Given the description of an element on the screen output the (x, y) to click on. 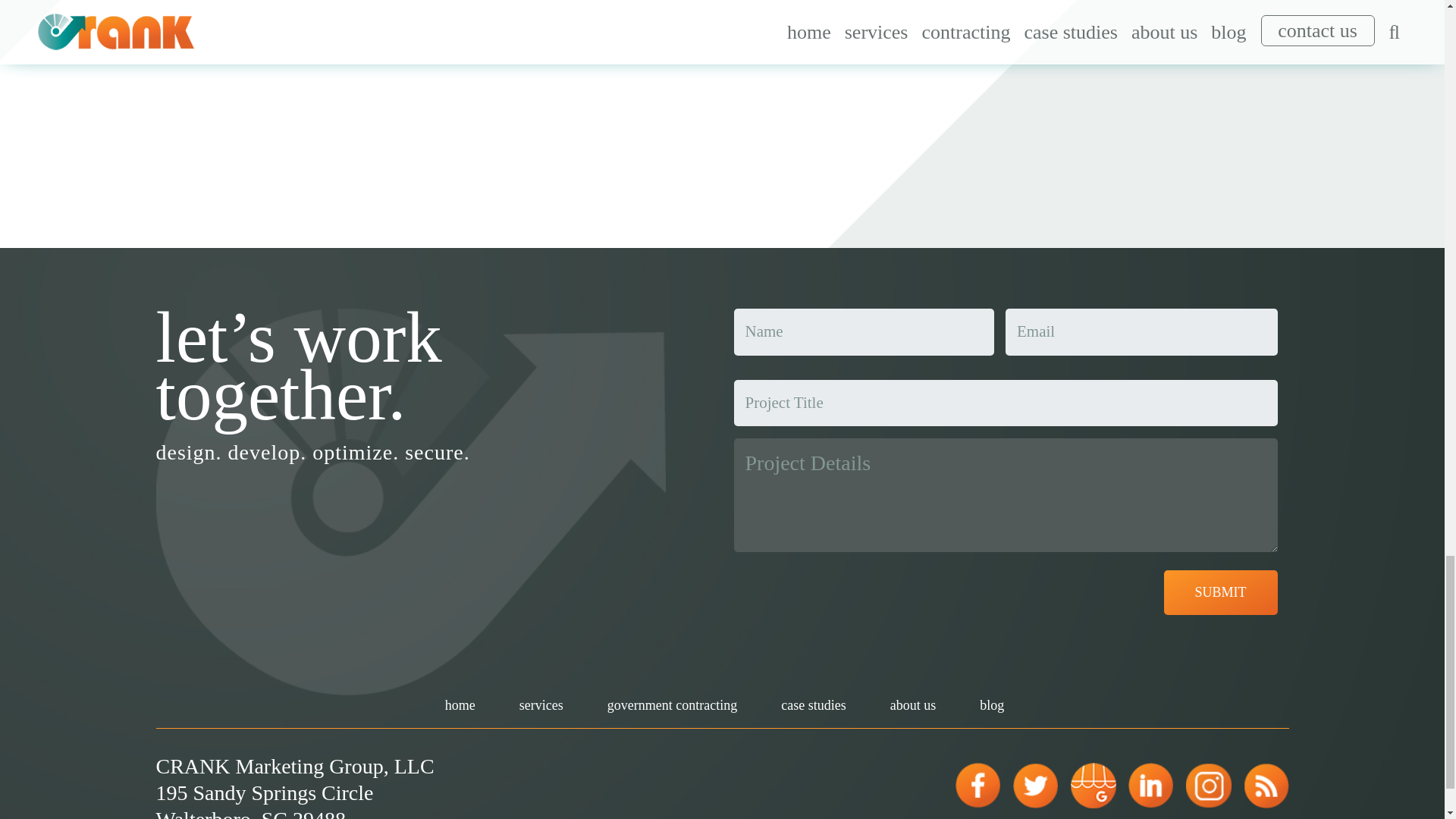
home (458, 705)
blog (989, 705)
SUBMIT (1219, 592)
SUBMIT (1219, 592)
services (539, 705)
case studies (810, 705)
about us (910, 705)
government contracting (669, 705)
